Given the description of an element on the screen output the (x, y) to click on. 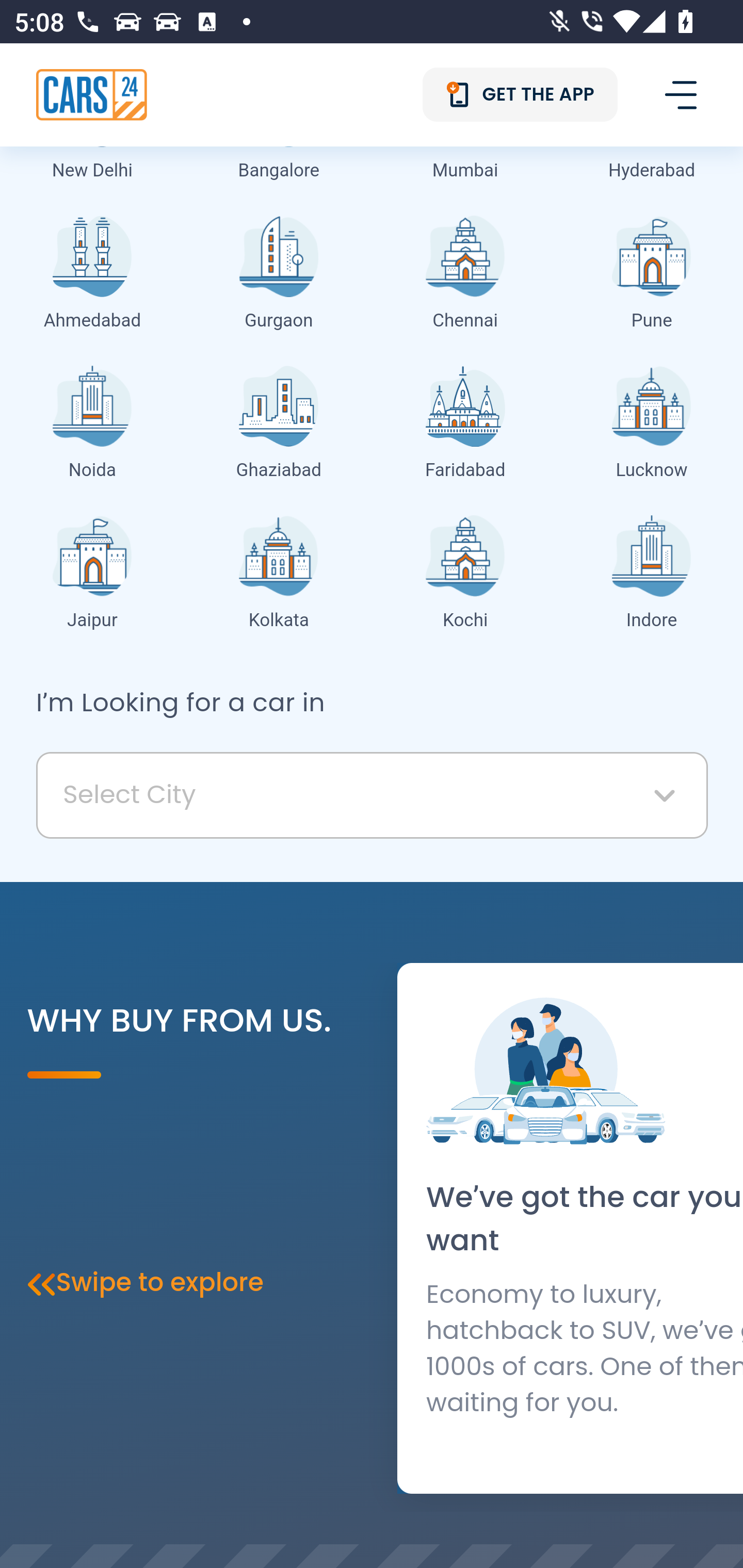
New Delhi New Delhi New Delhi New Delhi (92, 126)
Ahmedabad Ahmedabad Ahmedabad Ahmedabad (92, 277)
Gurgaon Gurgaon Gurgaon Gurgaon (278, 277)
Chennai Chennai Chennai Chennai (464, 277)
Pune Pune Pune Pune (651, 277)
Noida Noida Noida Noida (92, 427)
Ghaziabad Ghaziabad Ghaziabad Ghaziabad (278, 427)
Faridabad Faridabad Faridabad Faridabad (464, 427)
Lucknow Lucknow Lucknow Lucknow (651, 427)
Jaipur Jaipur Jaipur Jaipur (92, 577)
Kolkata Kolkata Kolkata Kolkata (278, 577)
Kochi Kochi Kochi Kochi (464, 577)
Indore Indore Indore Indore (651, 577)
